Given the description of an element on the screen output the (x, y) to click on. 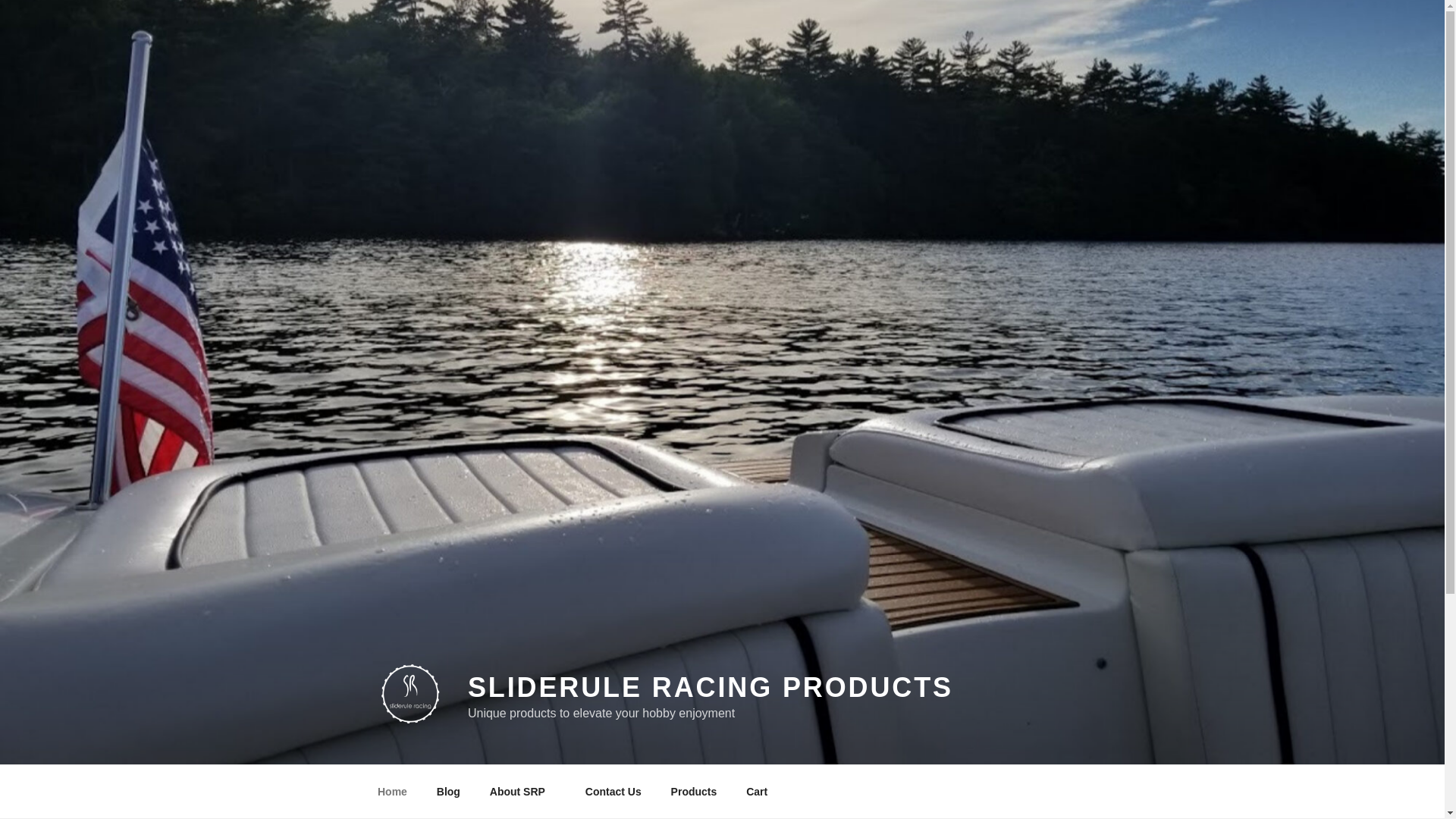
Home (392, 791)
Products (694, 791)
Blog (448, 791)
About SRP (522, 791)
SLIDERULE RACING PRODUCTS (710, 686)
Cart (756, 791)
Contact Us (612, 791)
